Given the description of an element on the screen output the (x, y) to click on. 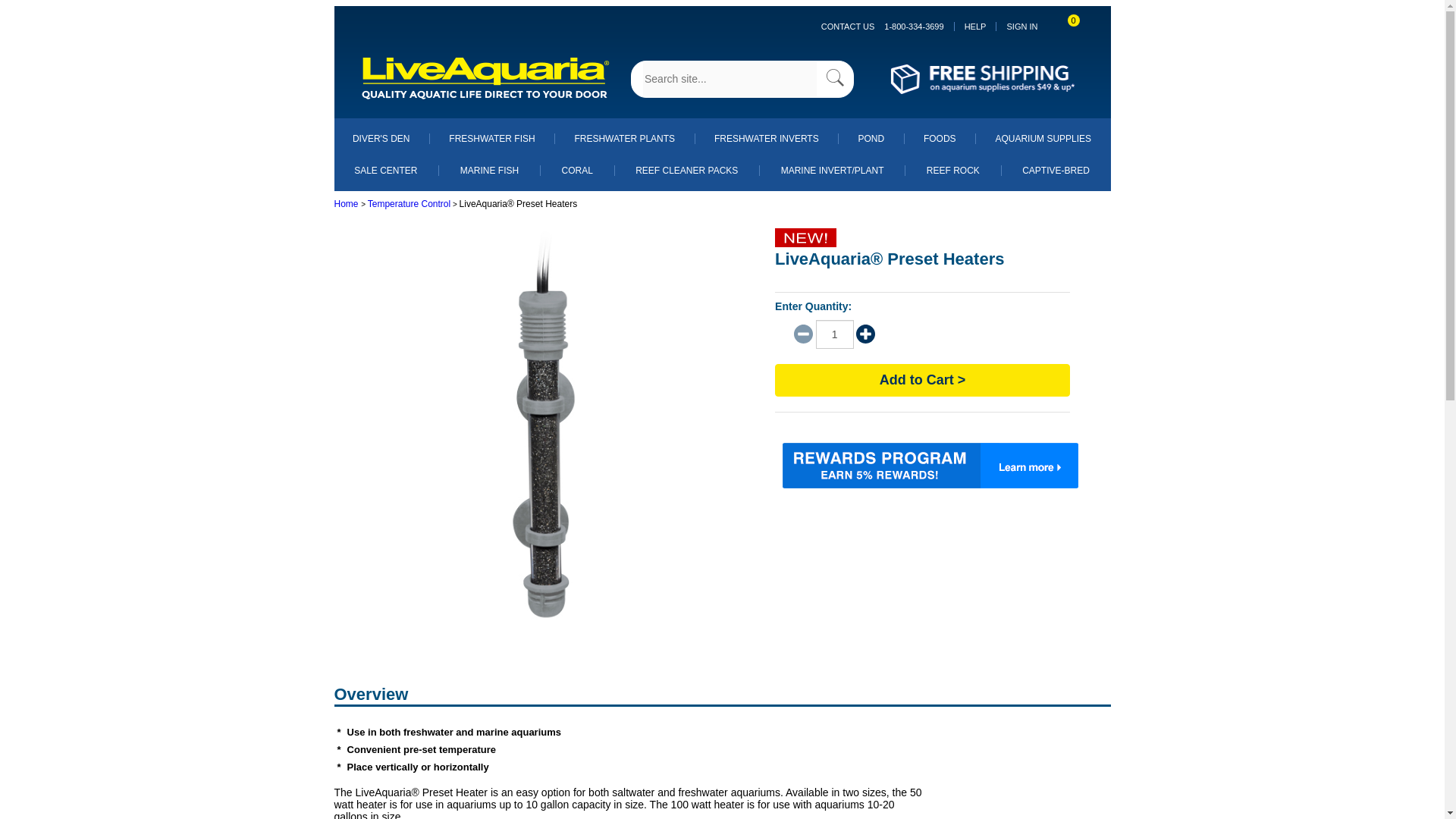
Sale Center (384, 170)
Reef Rock (952, 170)
Freshwater Fish (491, 138)
Foods (939, 138)
Edit Shopping Cart (1066, 26)
Diver's Den (381, 138)
Captive-Bred (1055, 170)
Marine Fish (489, 170)
Live Aquaria:  Quality Aquatic Life Direct To Your Door (486, 79)
Type in a name (729, 78)
